Given the description of an element on the screen output the (x, y) to click on. 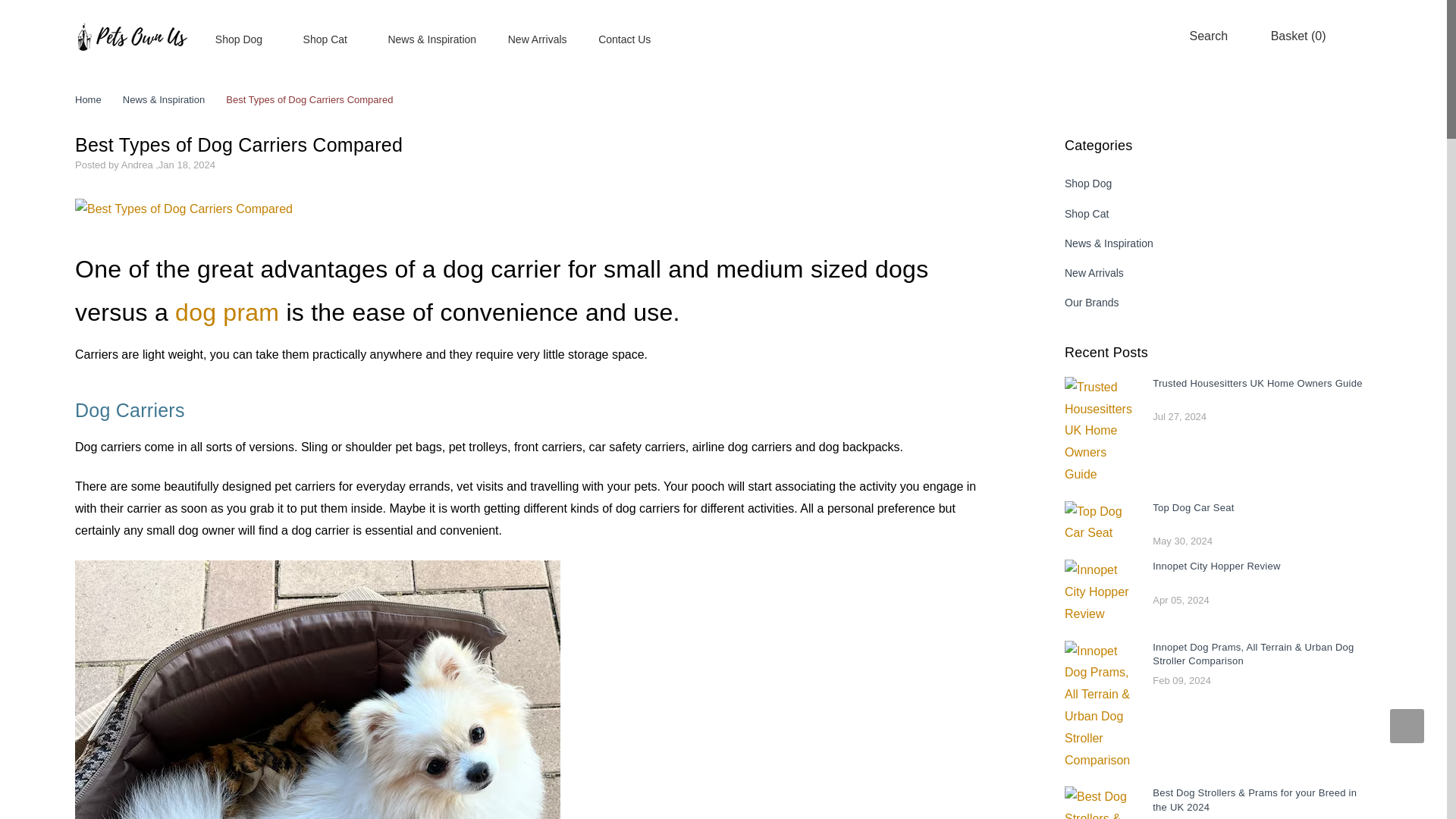
Pets Own Us (131, 37)
Dog Prams (226, 311)
Best Types of Dog Carriers Compared (183, 209)
